Given the description of an element on the screen output the (x, y) to click on. 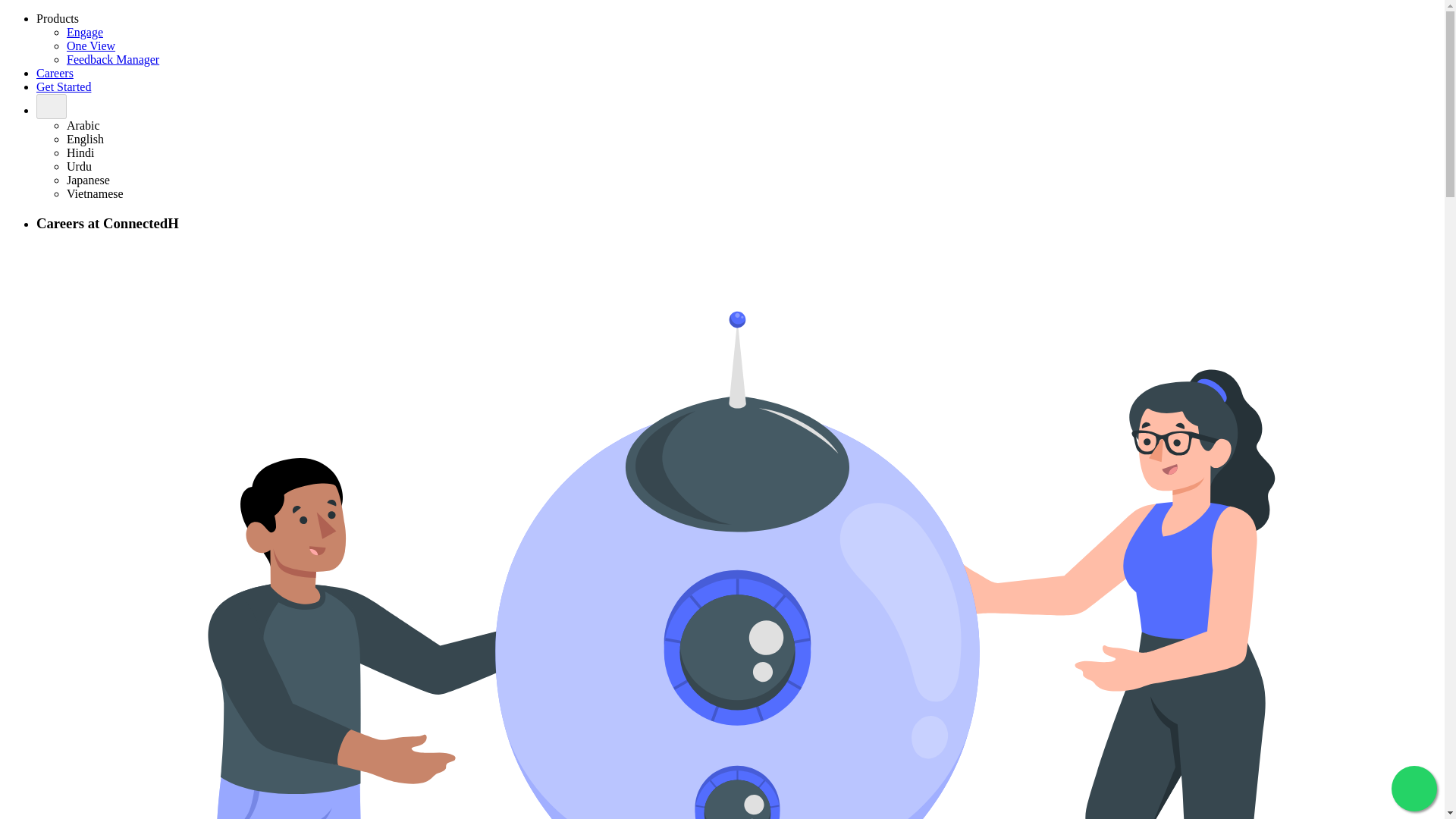
Feedback Manager (112, 59)
Get Started (63, 86)
One View (90, 45)
Careers (55, 72)
Engage (84, 31)
